Given the description of an element on the screen output the (x, y) to click on. 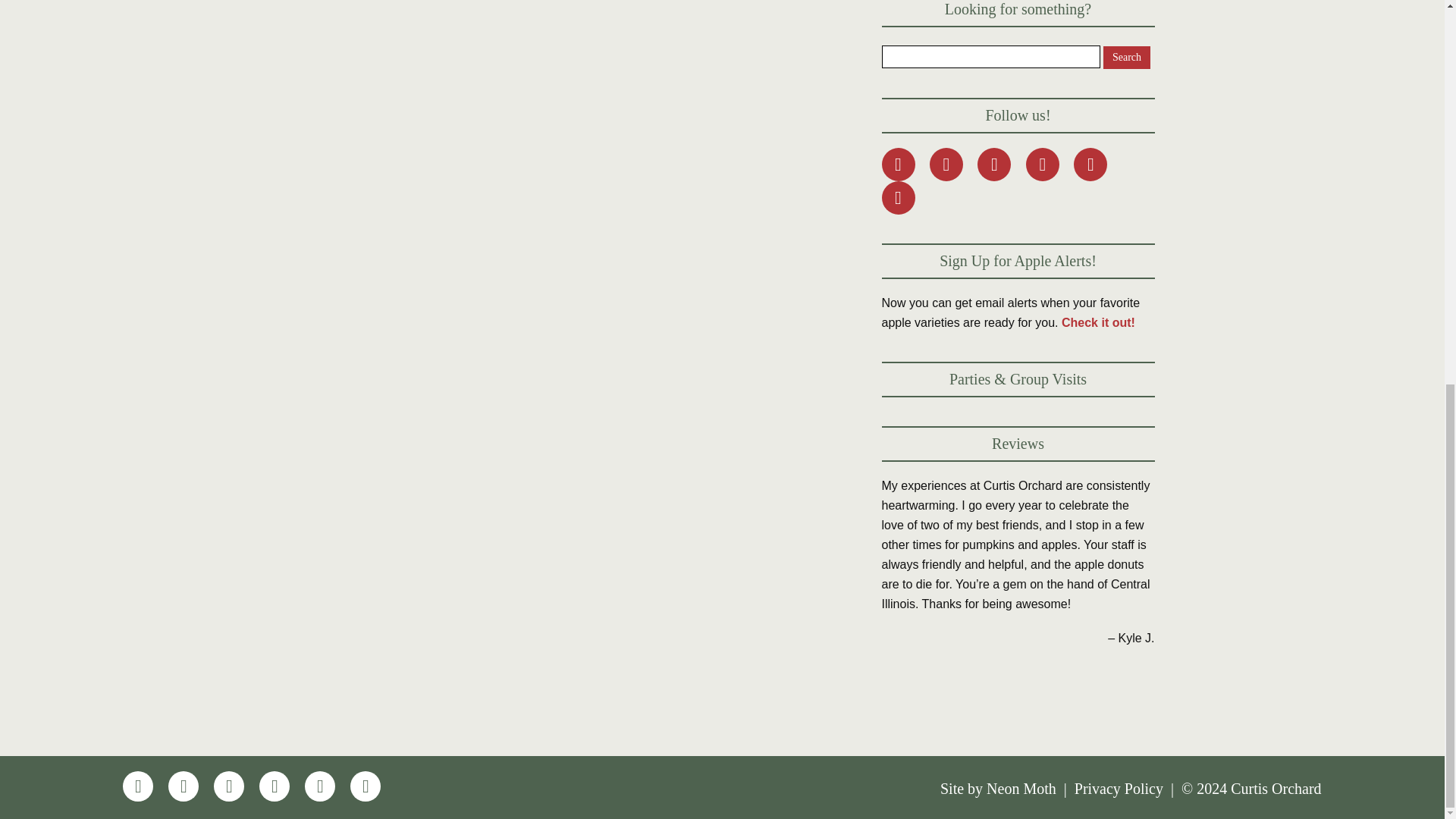
Search (1126, 56)
Search (1126, 56)
